Given the description of an element on the screen output the (x, y) to click on. 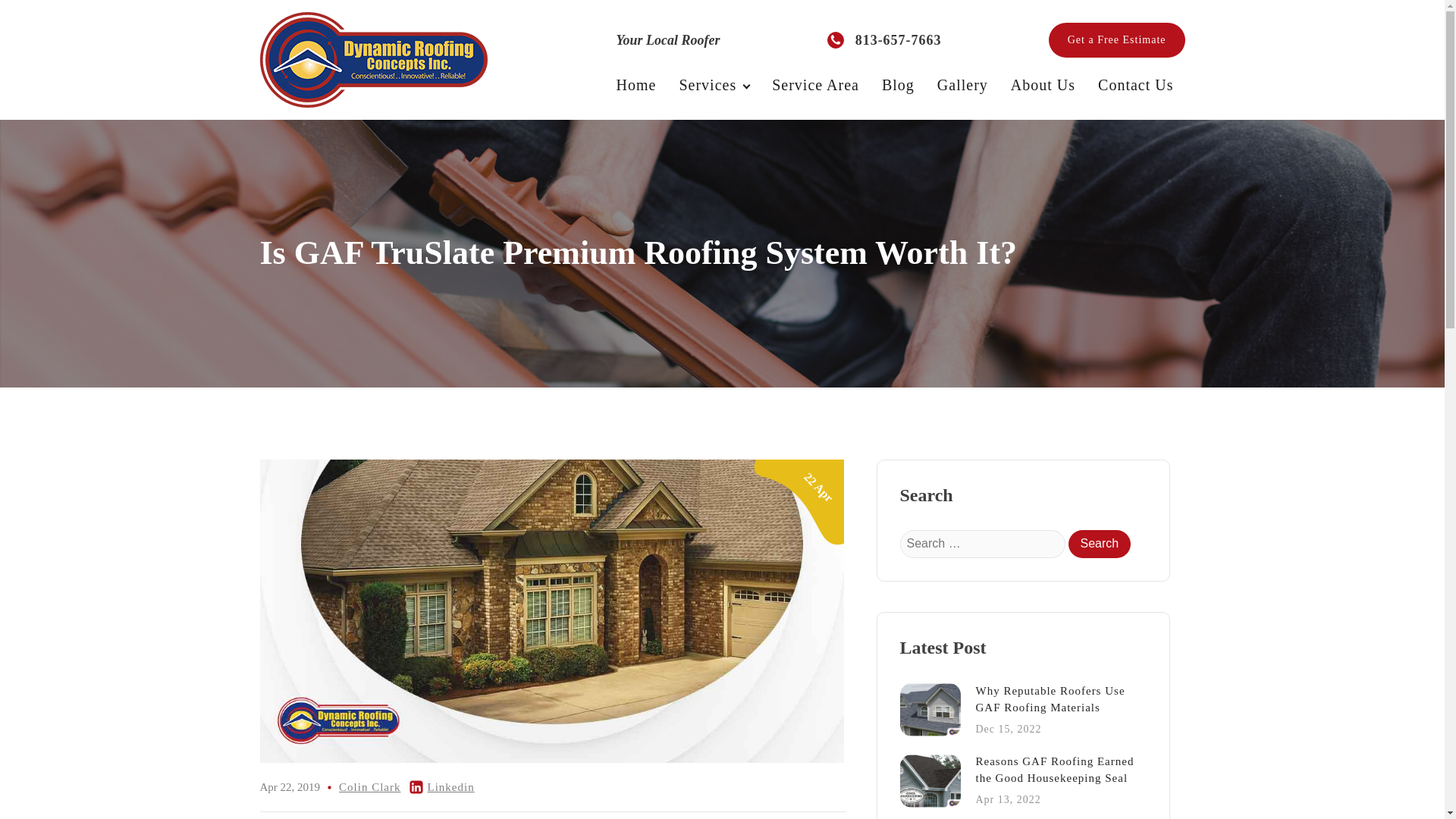
Gallery (962, 84)
About Us (1042, 84)
Contact Us (1022, 709)
Colin Clark (1135, 84)
Services (369, 787)
Search (713, 84)
Linkedin (1099, 543)
Home (451, 787)
Service Area (636, 84)
Get a Free Estimate (815, 84)
Search (1116, 39)
Blog (1099, 543)
Search (898, 84)
